Given the description of an element on the screen output the (x, y) to click on. 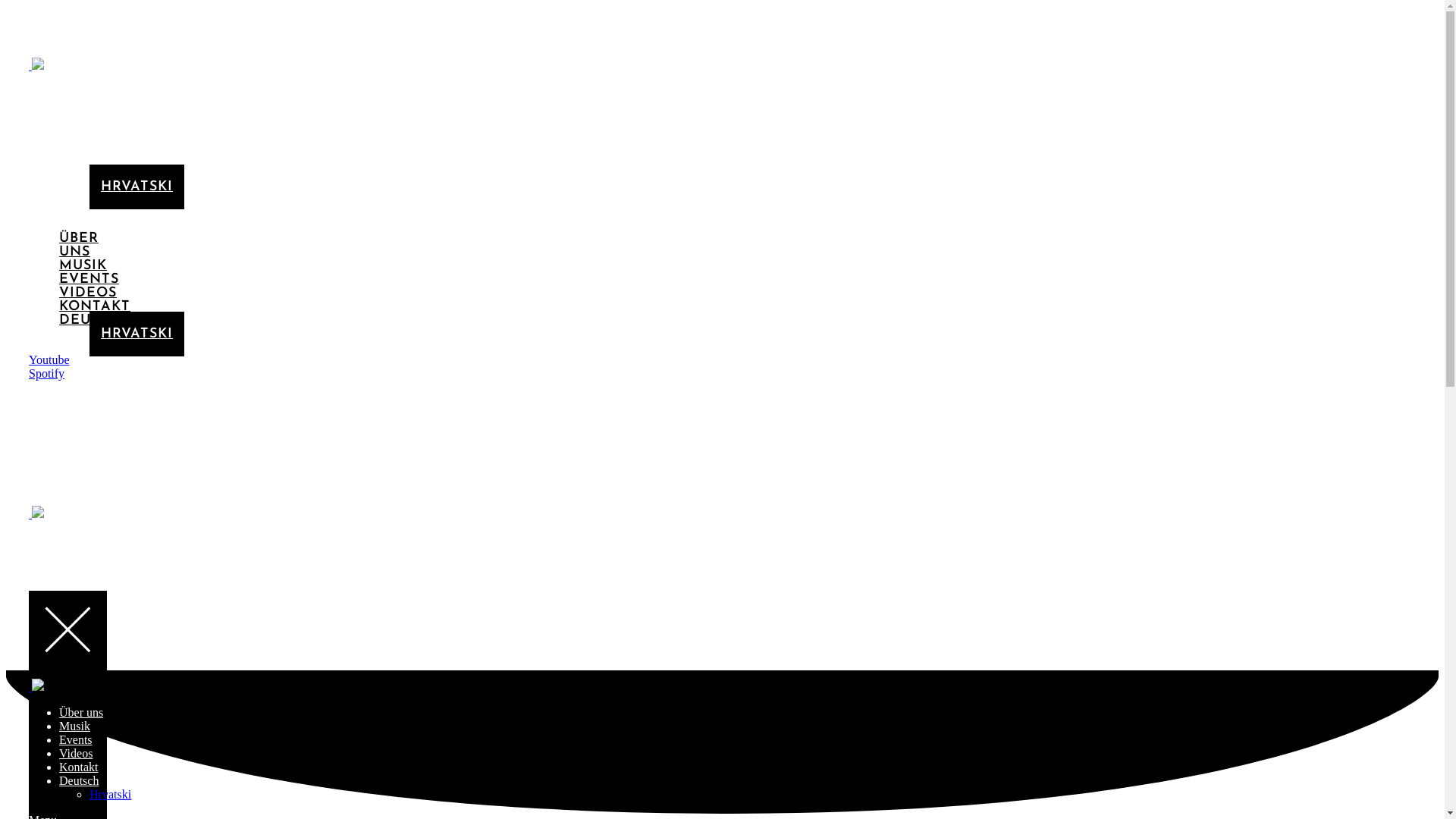
HRVATSKI Element type: text (136, 186)
Hrvatski Element type: text (110, 793)
EVENTS Element type: text (89, 124)
KONTAKT Element type: text (94, 151)
Musik Element type: text (74, 725)
KONTAKT Element type: text (94, 306)
Spotify Element type: text (46, 373)
Kontakt Element type: text (78, 766)
VIDEOS Element type: text (87, 138)
VIDEOS Element type: text (87, 292)
Deutsch Element type: text (78, 780)
DEUTSCH Element type: text (94, 320)
HRVATSKI Element type: text (136, 333)
EVENTS Element type: text (89, 279)
Videos Element type: text (75, 752)
DEUTSCH Element type: text (94, 165)
MUSIK Element type: text (82, 110)
MUSIK Element type: text (82, 265)
Youtube Element type: text (48, 359)
Events Element type: text (75, 739)
